Given the description of an element on the screen output the (x, y) to click on. 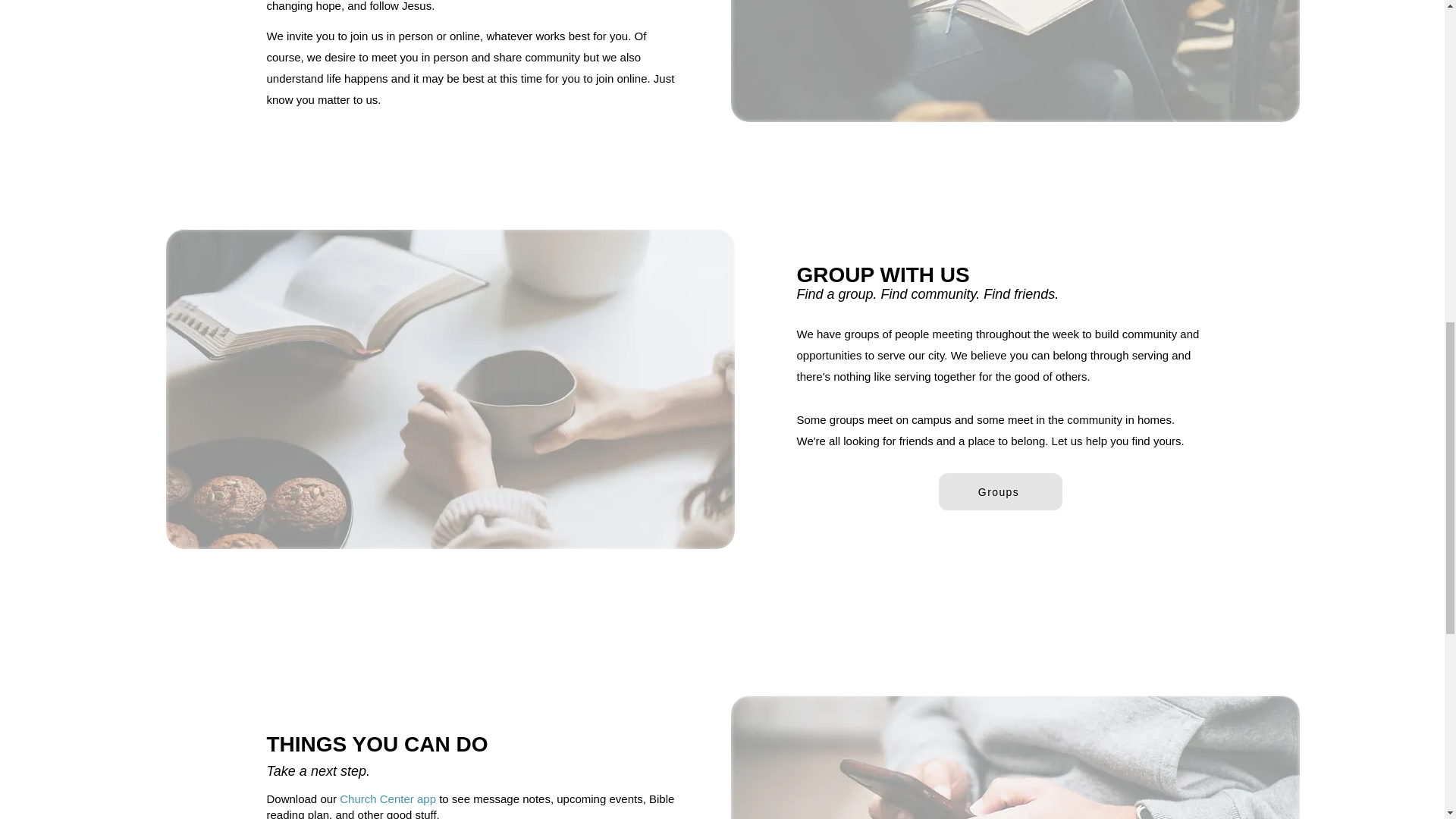
Church Center app (387, 798)
Geometric Abstract Shapes (1015, 61)
Geometric Abstract Shapes (1015, 757)
Groups (1000, 491)
